Given the description of an element on the screen output the (x, y) to click on. 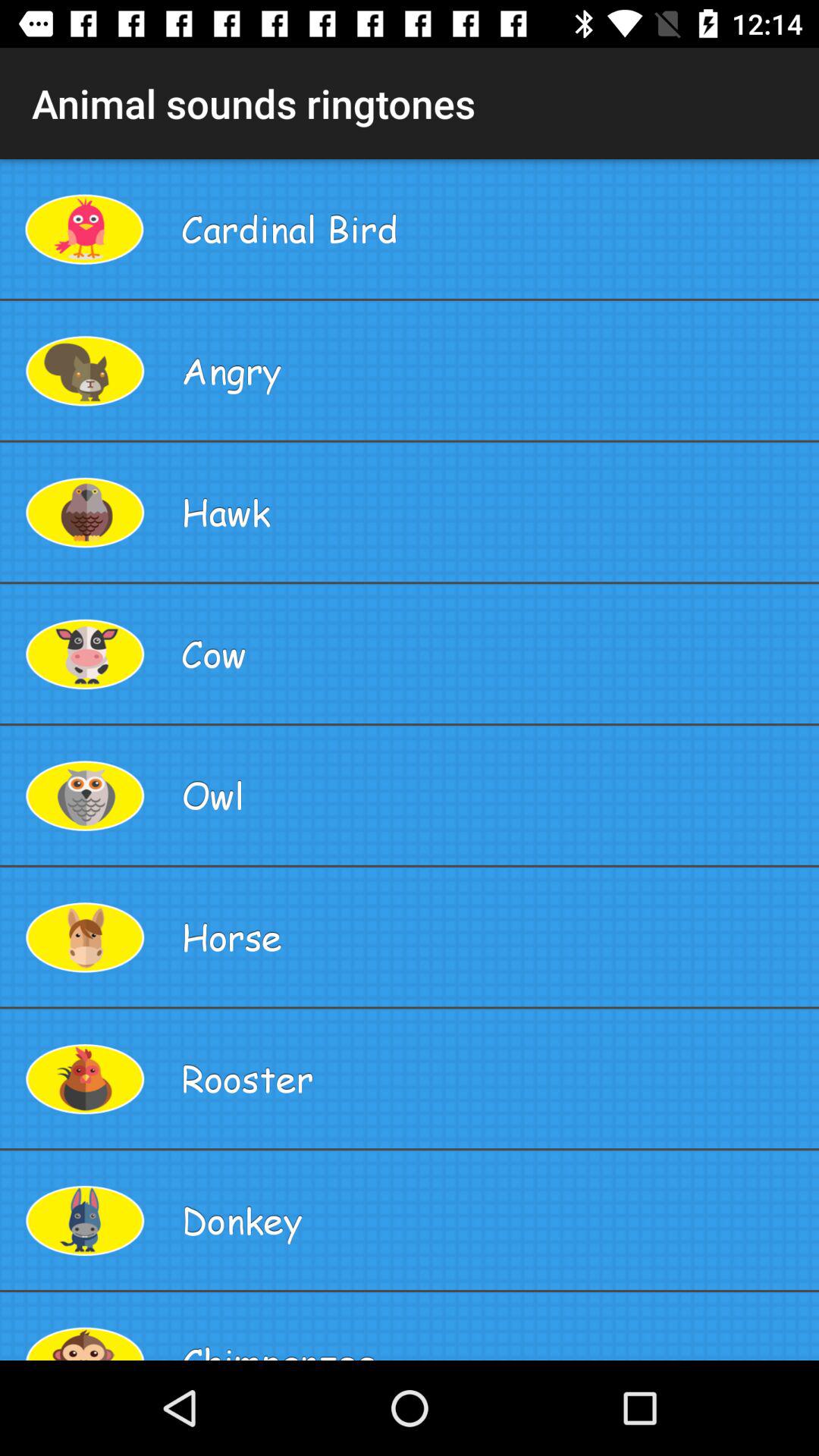
swipe until rooster (494, 1078)
